Given the description of an element on the screen output the (x, y) to click on. 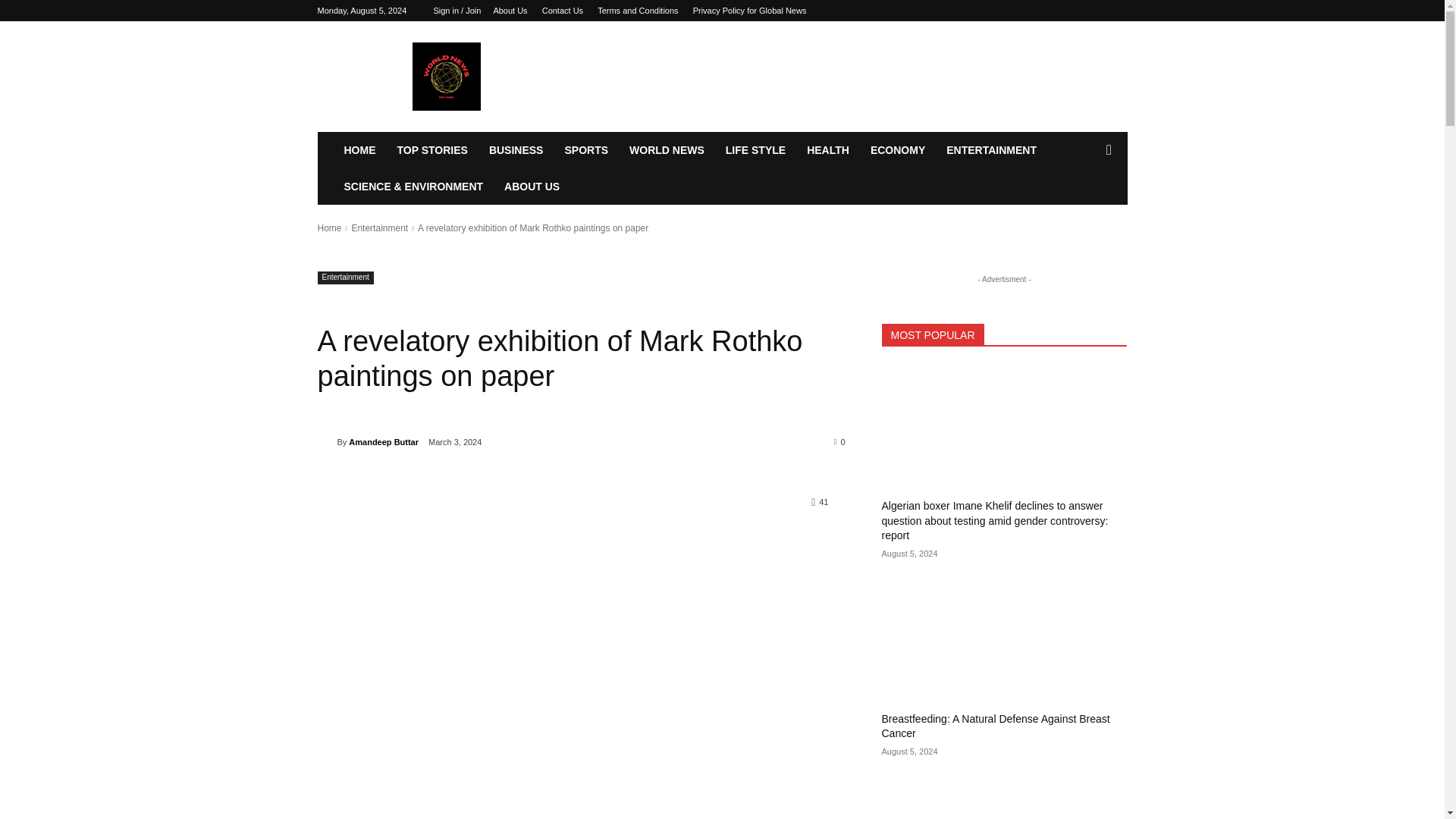
HOME (360, 149)
Contact Us (562, 10)
Terms and Conditions (637, 10)
TOP STORIES (433, 149)
Privacy Policy for Global News (749, 10)
About Us (510, 10)
BUSINESS (516, 149)
